Given the description of an element on the screen output the (x, y) to click on. 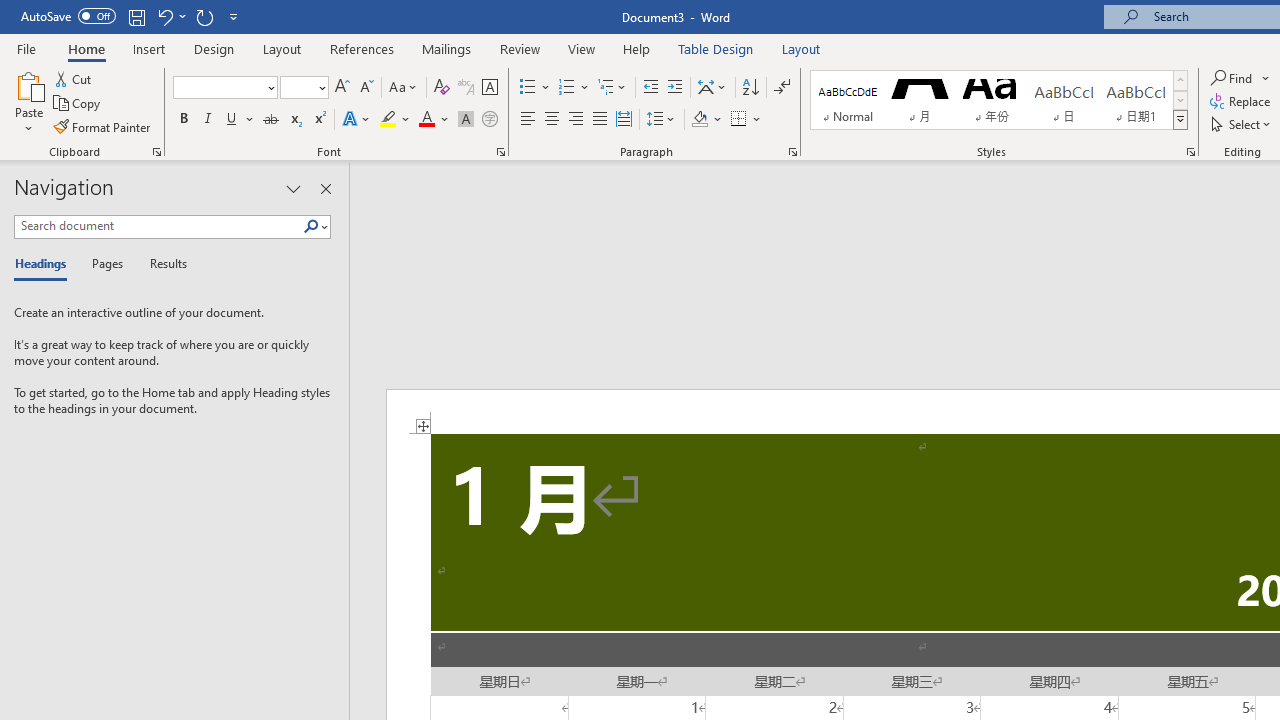
Sort... (750, 87)
Decrease Indent (650, 87)
Grow Font (342, 87)
Italic (207, 119)
Pages (105, 264)
